Given the description of an element on the screen output the (x, y) to click on. 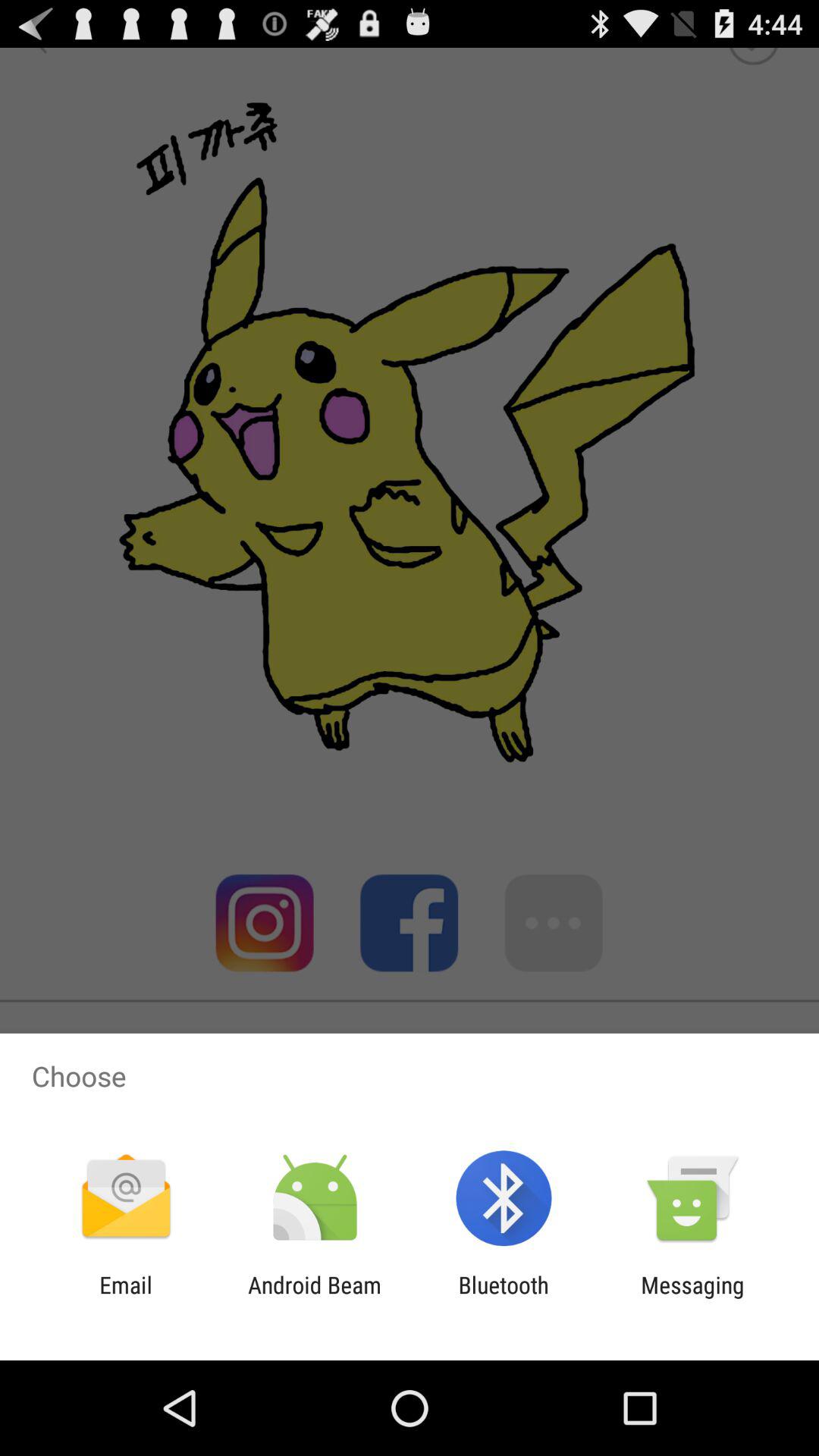
turn on icon next to the android beam item (503, 1298)
